Given the description of an element on the screen output the (x, y) to click on. 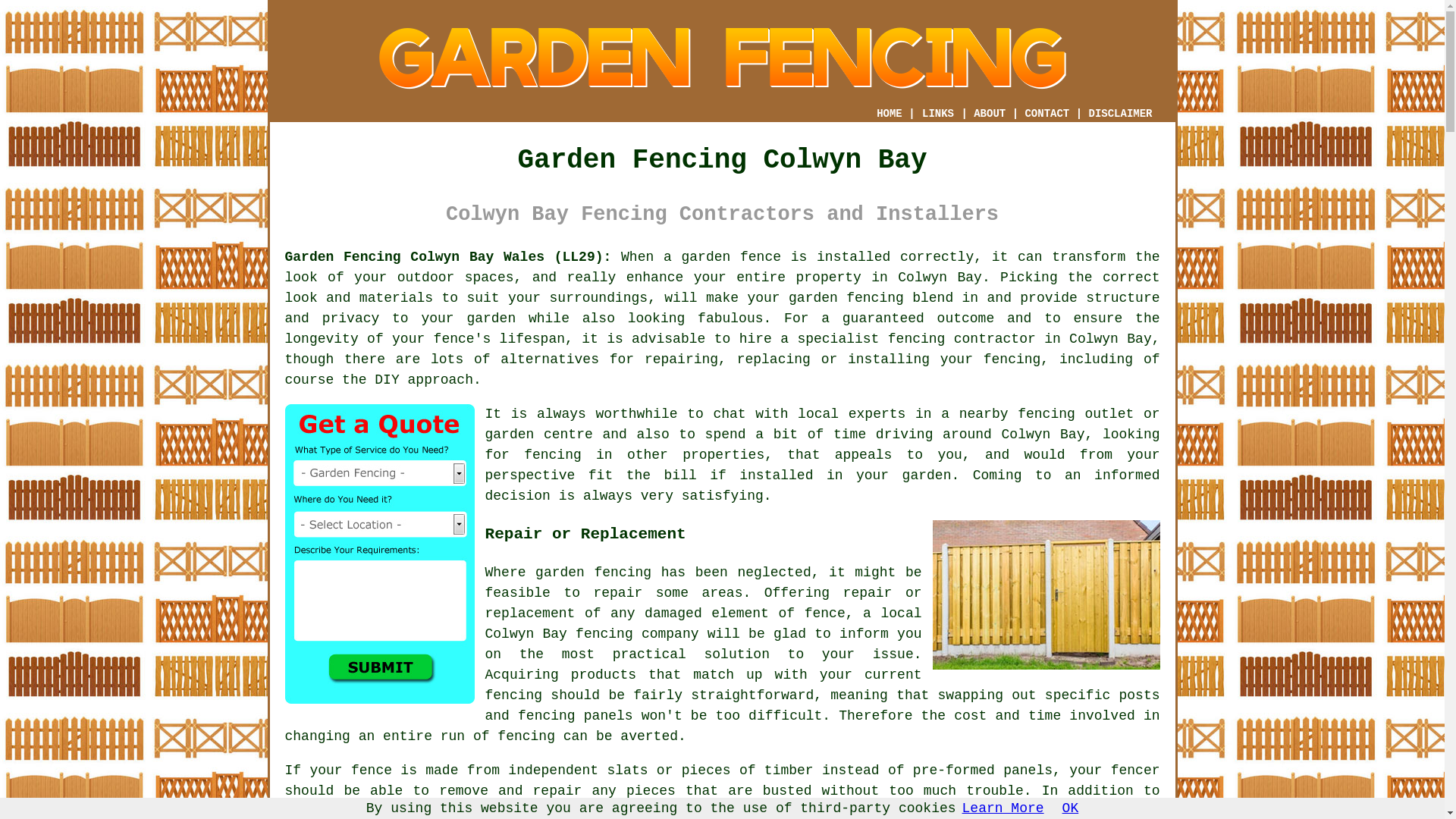
fencing contractor (961, 338)
fencing (604, 633)
garden fencing (846, 297)
HOME (889, 113)
LINKS (938, 113)
Garden Fencing Colwyn Bay (721, 58)
fence (370, 770)
